Given the description of an element on the screen output the (x, y) to click on. 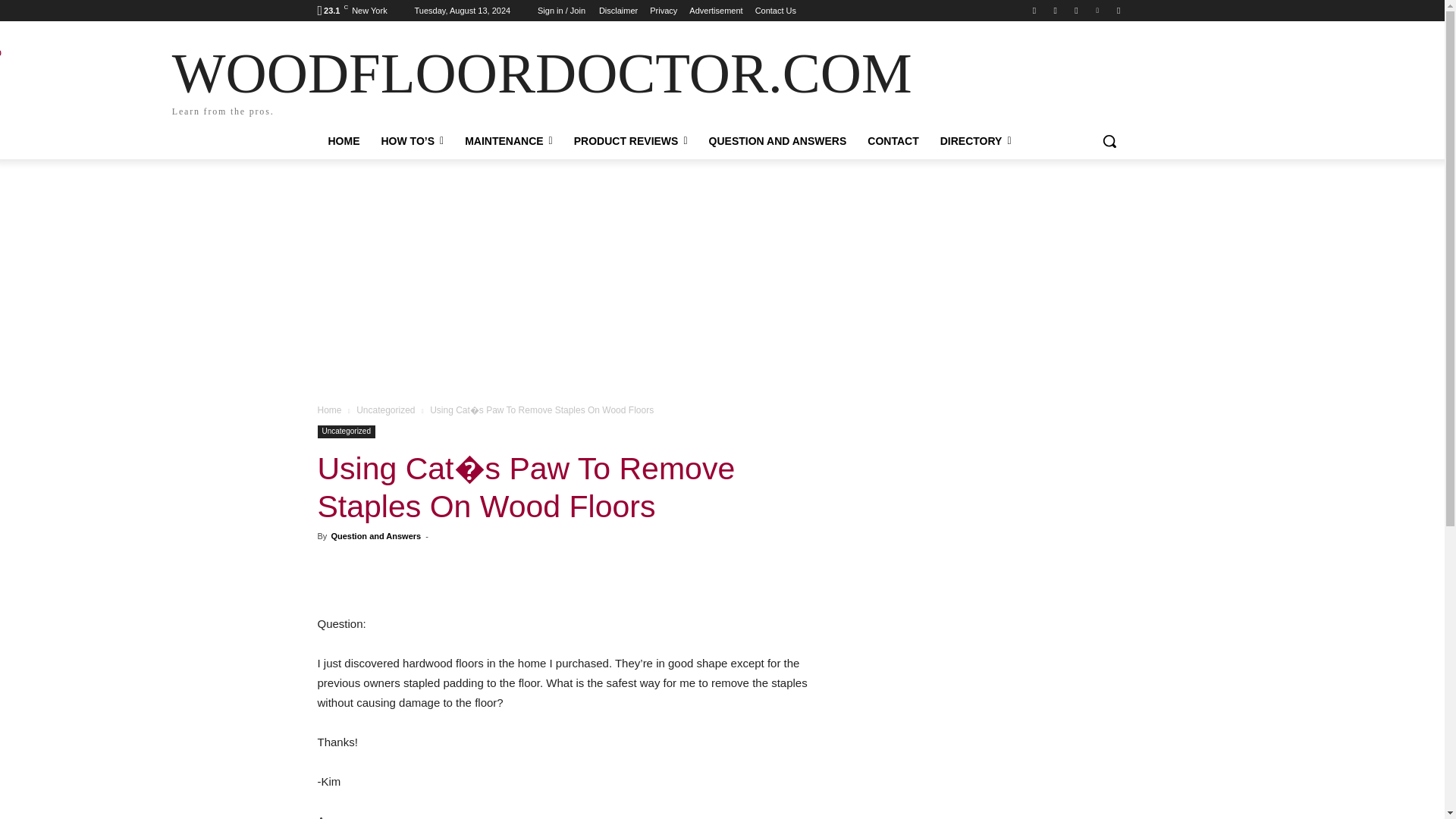
Disclaimer (438, 79)
Advertisement (617, 10)
Vimeo (715, 10)
Instagram (1097, 9)
Contact Us (1055, 9)
Privacy (775, 10)
Youtube (663, 10)
HOME (1117, 9)
Facebook (343, 140)
